Given the description of an element on the screen output the (x, y) to click on. 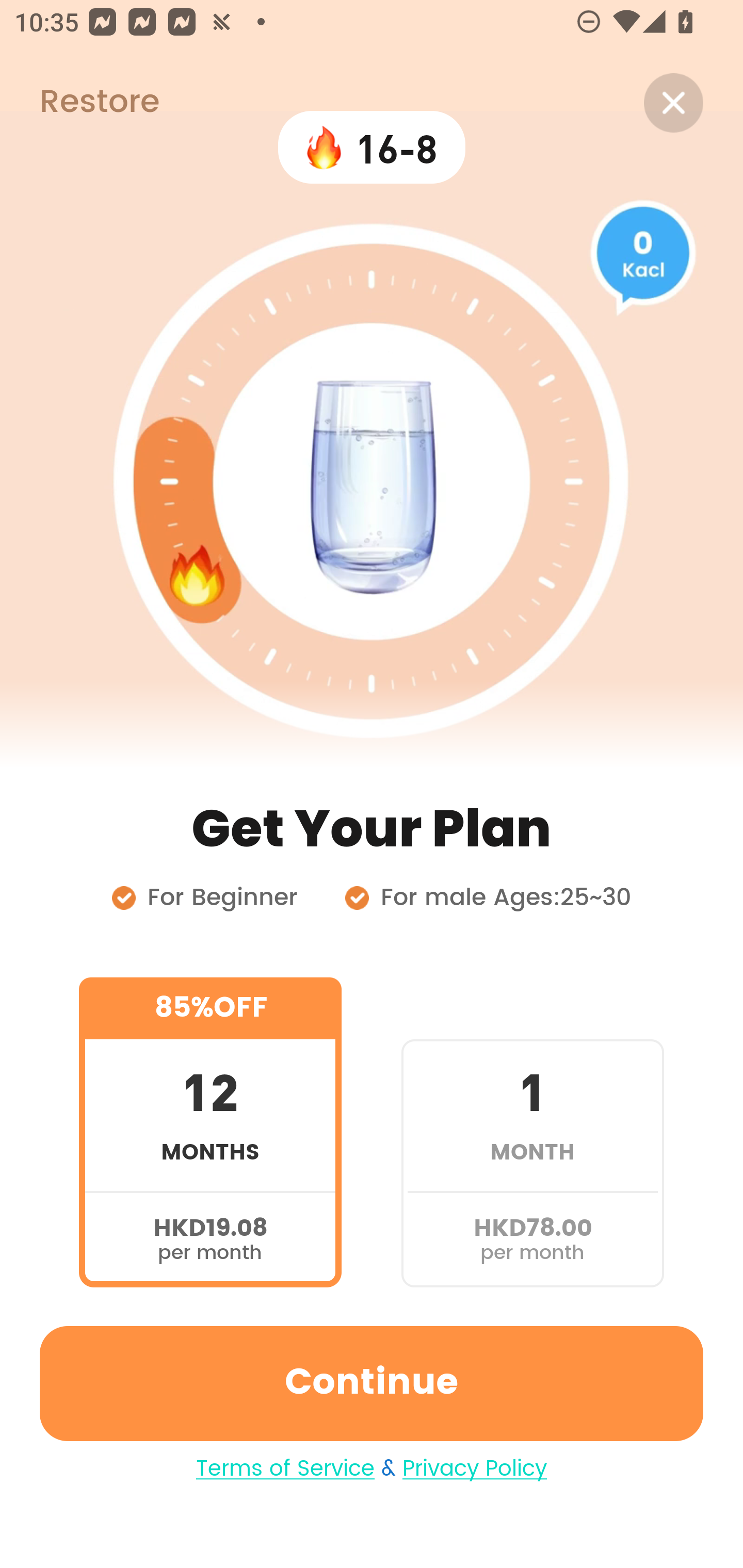
Restore (79, 102)
85%OFF 12 MONTHS per month HKD19.08 (209, 1131)
1 MONTH per month HKD78.00 (532, 1131)
Continue (371, 1383)
